Given the description of an element on the screen output the (x, y) to click on. 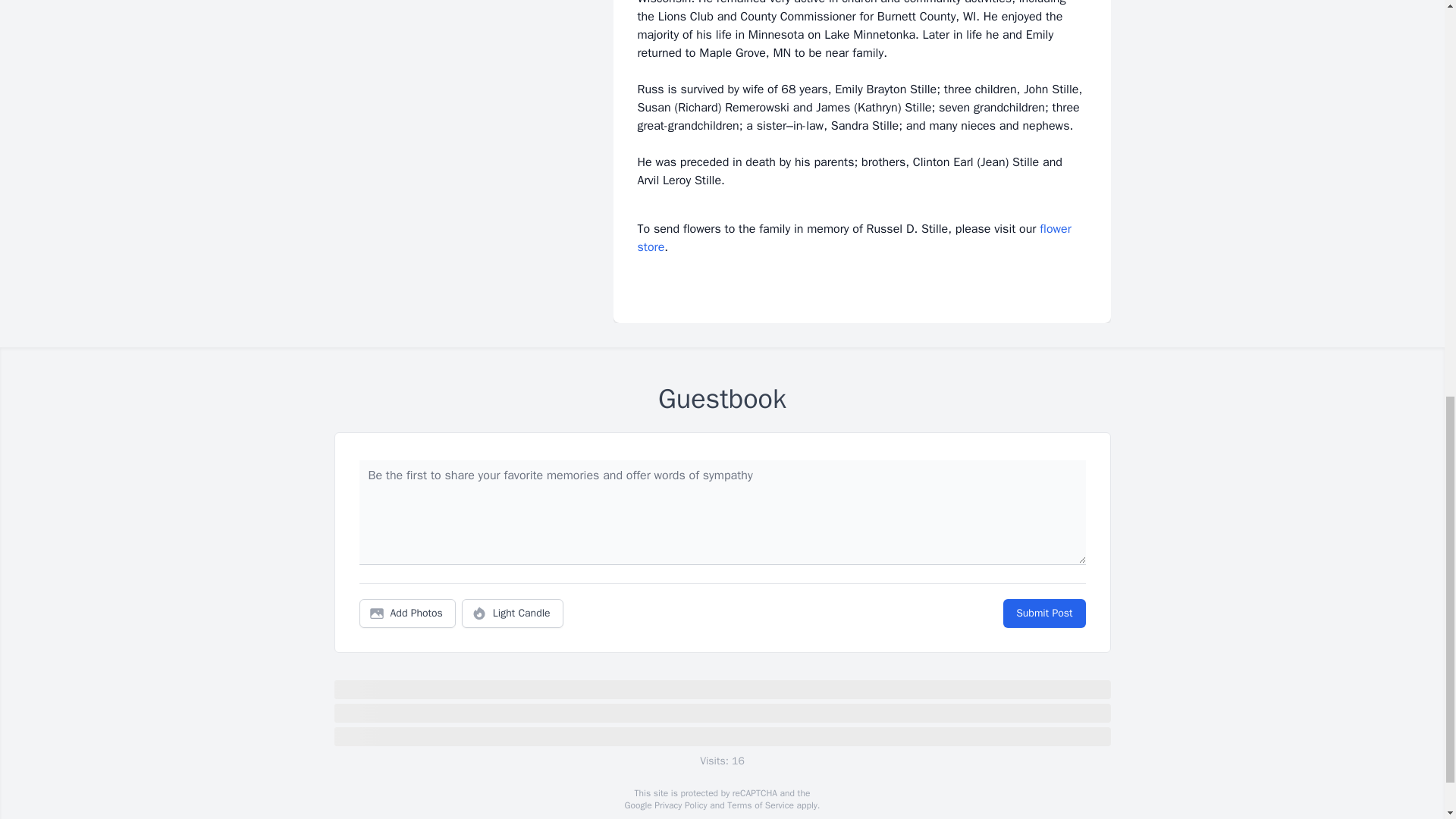
Privacy Policy (679, 805)
Submit Post (1043, 613)
Add Photos (407, 613)
Light Candle (512, 613)
flower store (853, 237)
Terms of Service (759, 805)
